Given the description of an element on the screen output the (x, y) to click on. 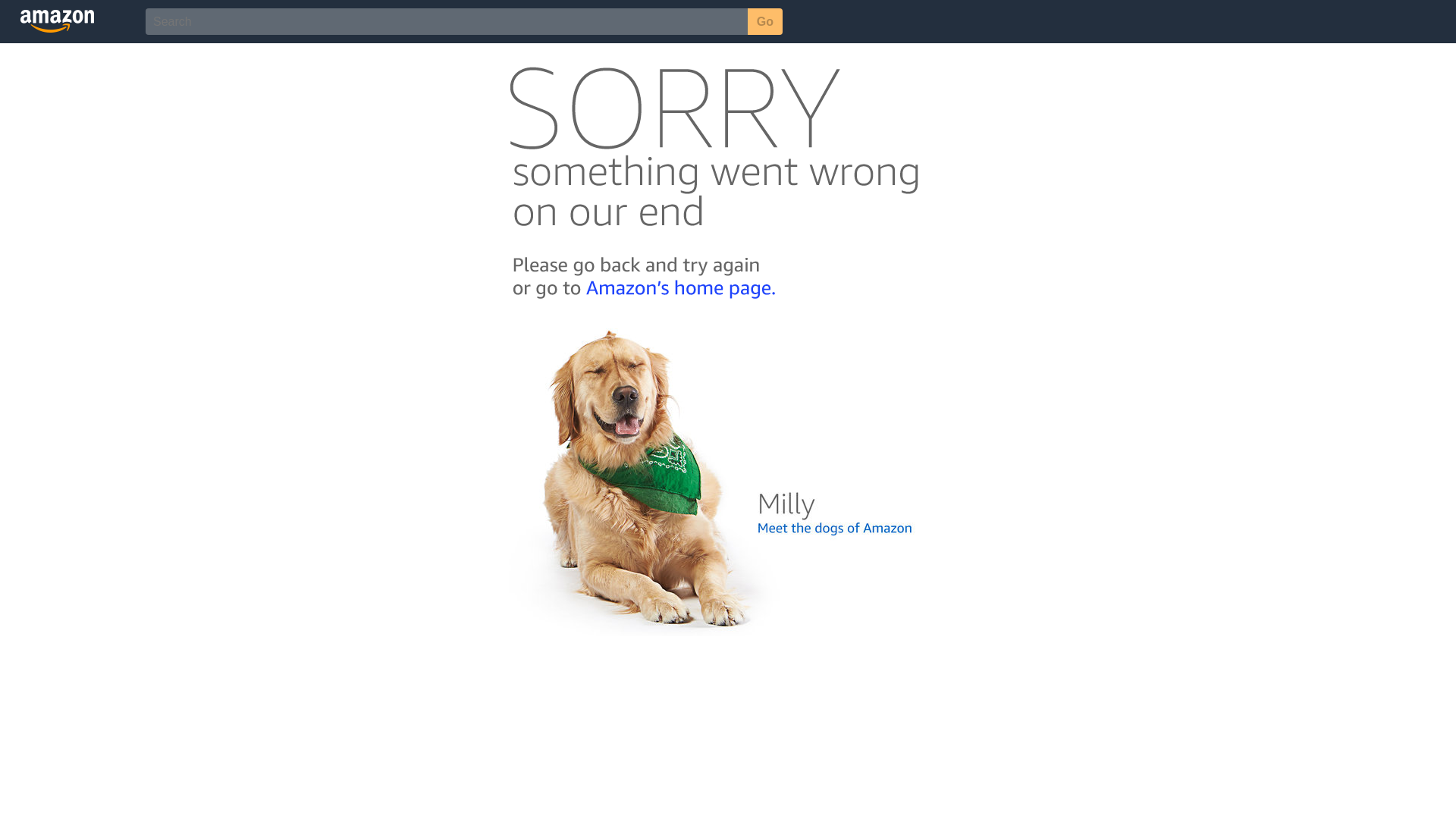
Go (765, 21)
Go (765, 21)
